Given the description of an element on the screen output the (x, y) to click on. 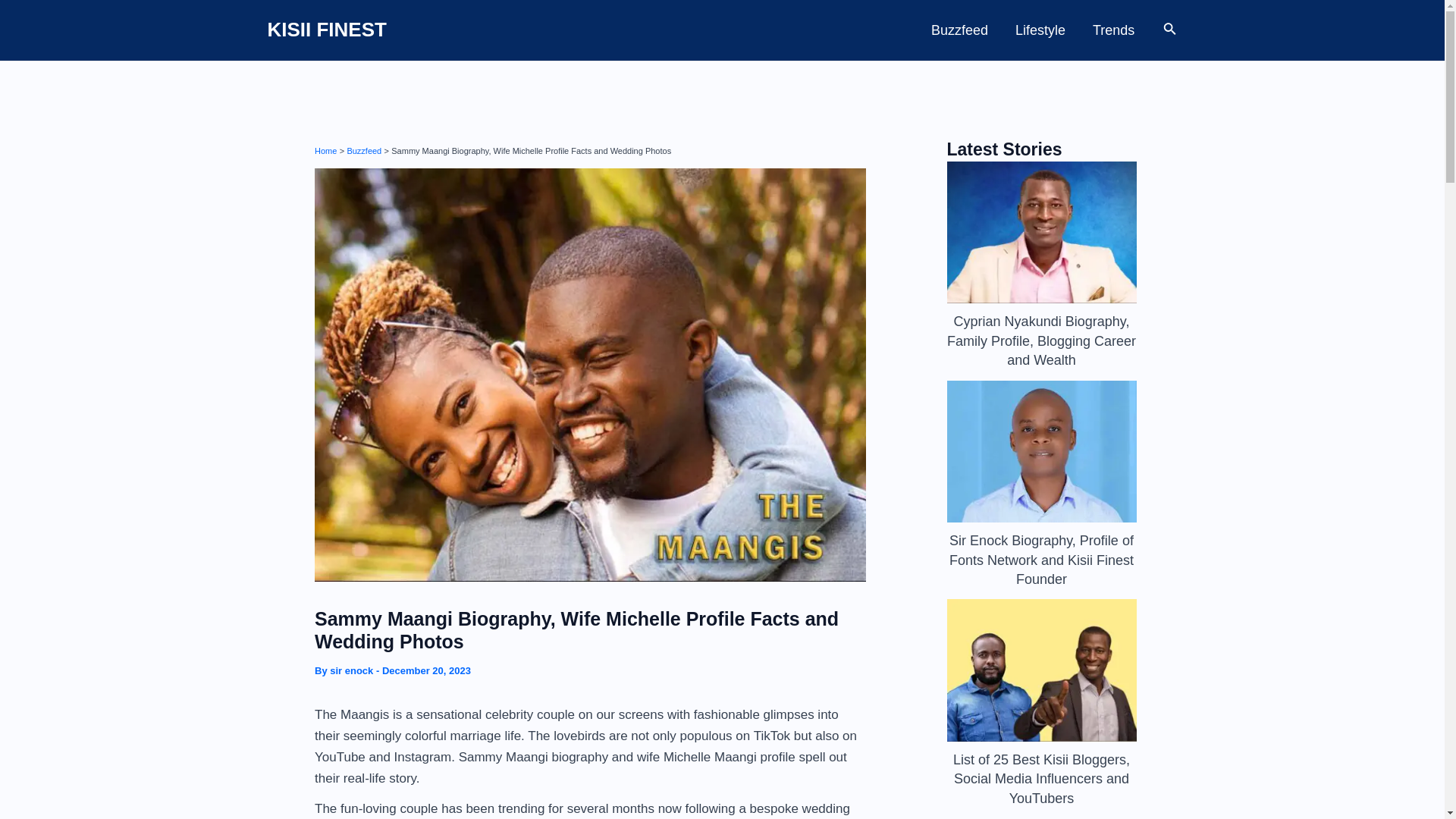
Buzzfeed (959, 30)
sir enock (352, 670)
Trends (1113, 30)
Buzzfeed (363, 149)
Lifestyle (1039, 30)
View all posts by sir enock (352, 670)
KISII FINEST (325, 29)
